Given the description of an element on the screen output the (x, y) to click on. 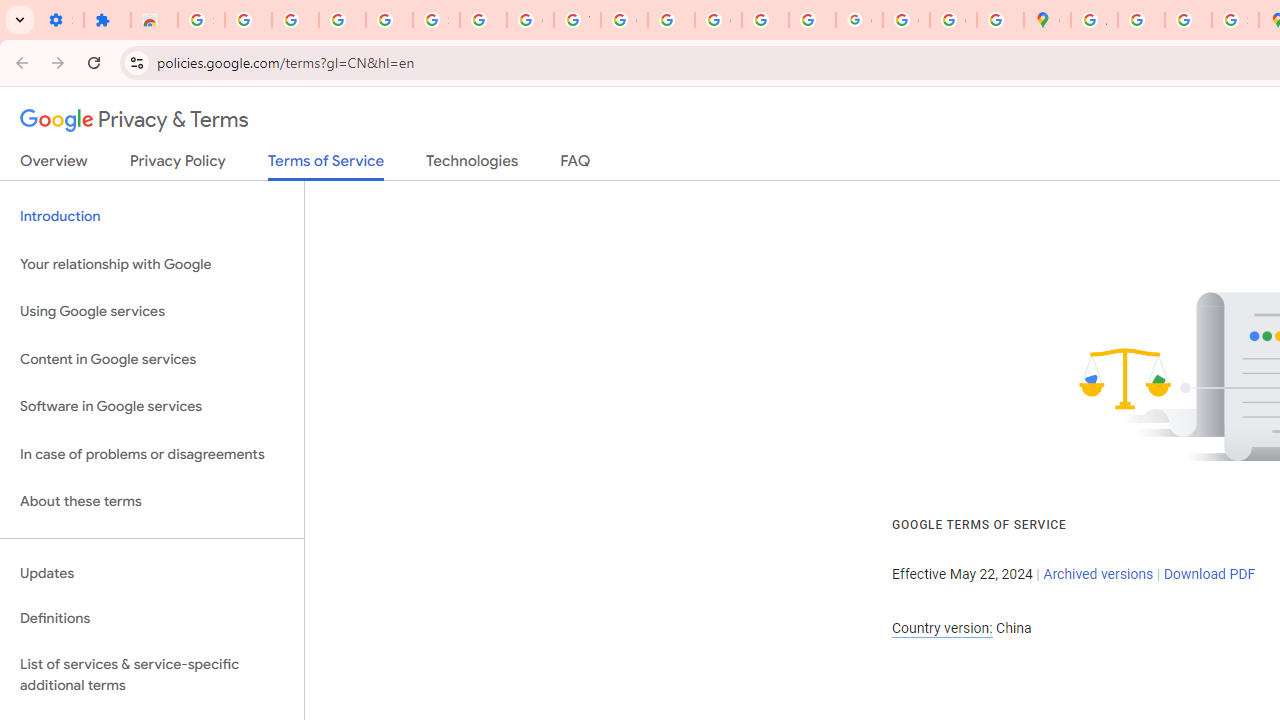
Software in Google services (152, 407)
https://scholar.google.com/ (671, 20)
Google Account (530, 20)
List of services & service-specific additional terms (152, 674)
Settings - On startup (60, 20)
Google Maps (1047, 20)
YouTube (577, 20)
Reviews: Helix Fruit Jump Arcade Game (153, 20)
